Given the description of an element on the screen output the (x, y) to click on. 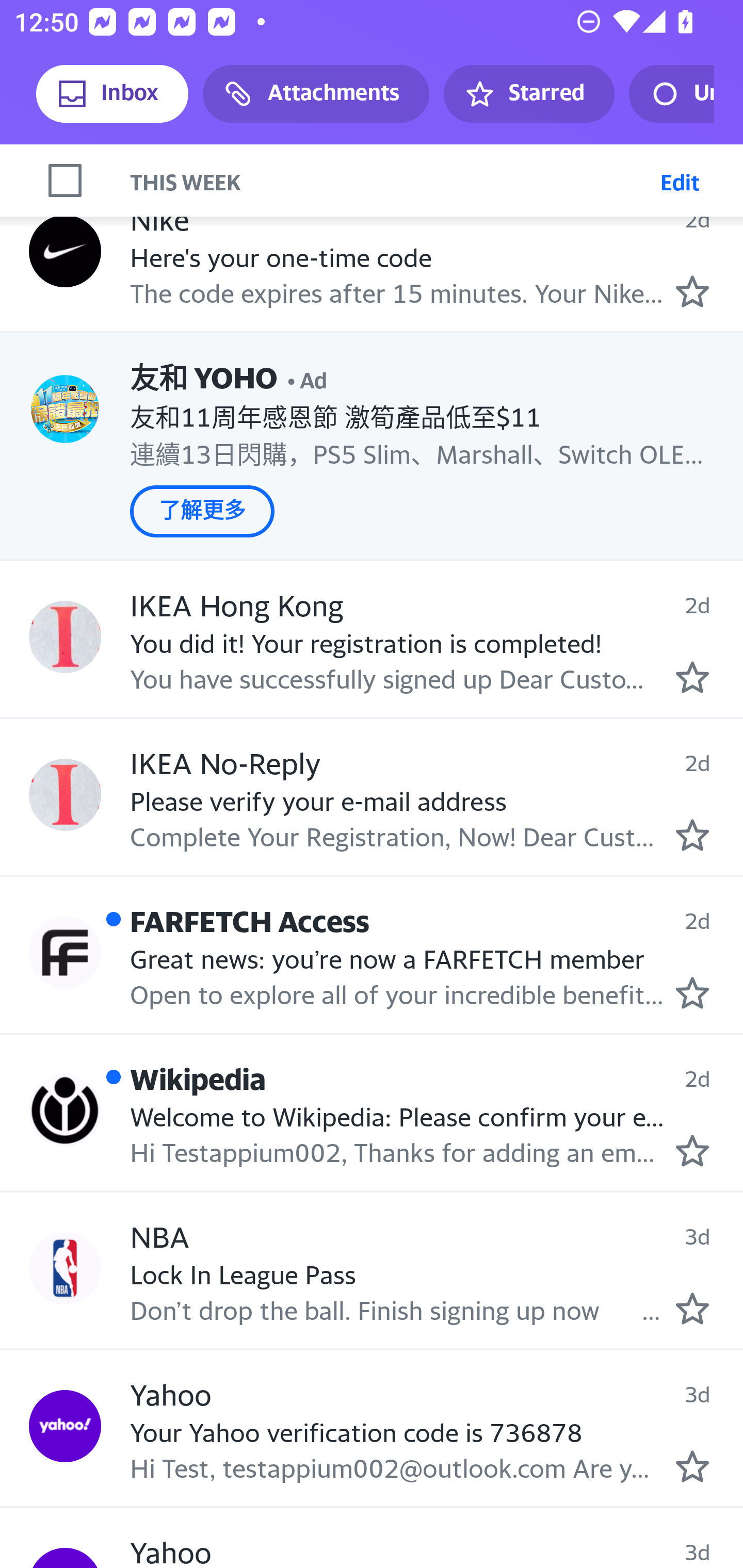
Attachments (315, 93)
Starred (528, 93)
Profile
Nike (64, 250)
Mark as starred. (692, 290)
Profile
IKEA Hong Kong (64, 636)
Mark as starred. (692, 676)
Profile
IKEA No-Reply (64, 794)
Mark as starred. (692, 834)
Profile
FARFETCH Access (64, 953)
Mark as starred. (692, 993)
Profile
Wikipedia (64, 1110)
Mark as starred. (692, 1150)
Profile
NBA (64, 1268)
Mark as starred. (692, 1308)
Profile
Yahoo (64, 1426)
Mark as starred. (692, 1466)
